Given the description of an element on the screen output the (x, y) to click on. 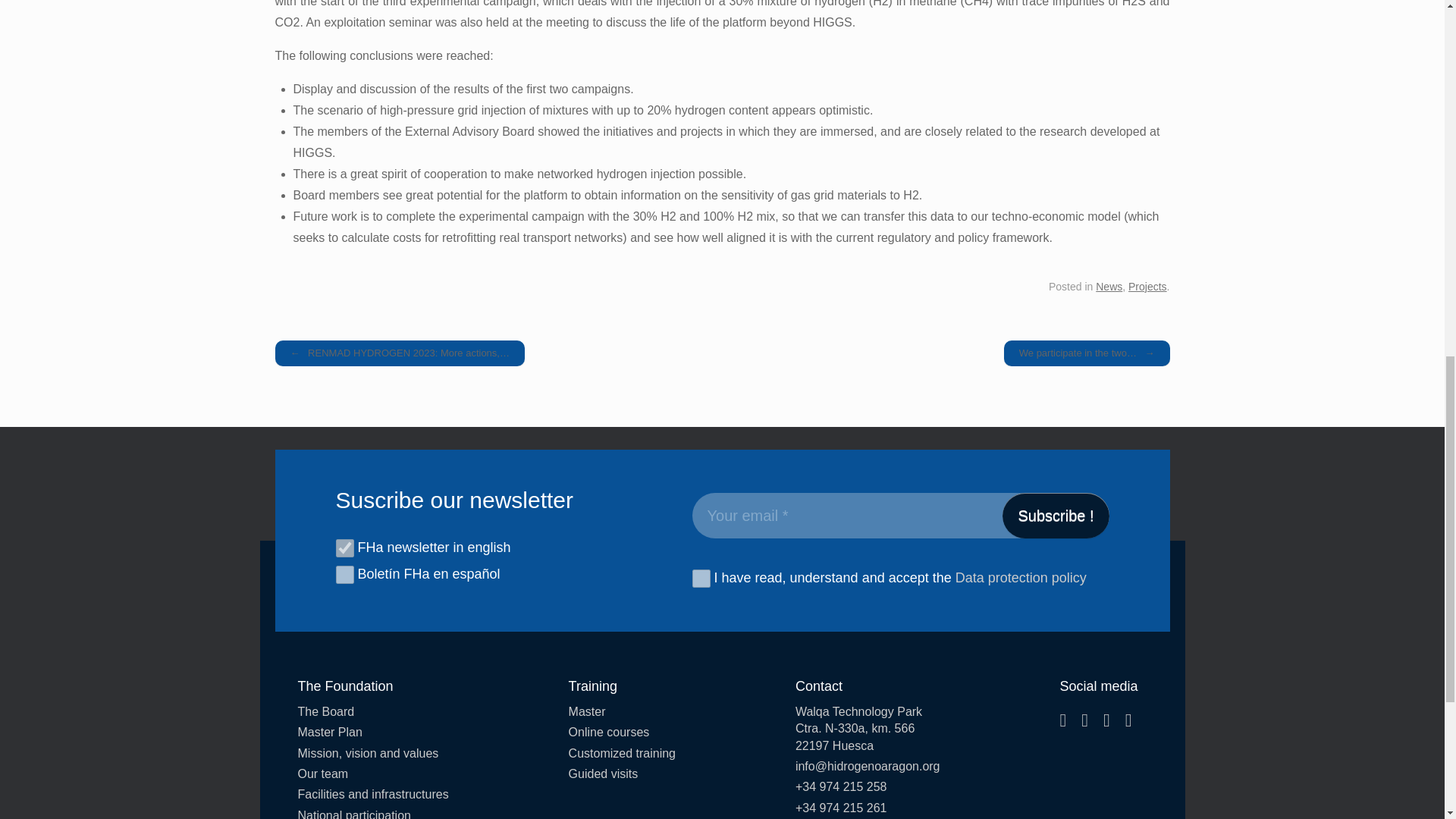
1 (700, 578)
3 (343, 574)
Your email (899, 515)
Data protection policy (1020, 578)
Subscribe ! (1055, 515)
The Board (372, 711)
News (1109, 286)
Subscribe ! (1055, 515)
9 (343, 547)
Projects (1147, 286)
